Given the description of an element on the screen output the (x, y) to click on. 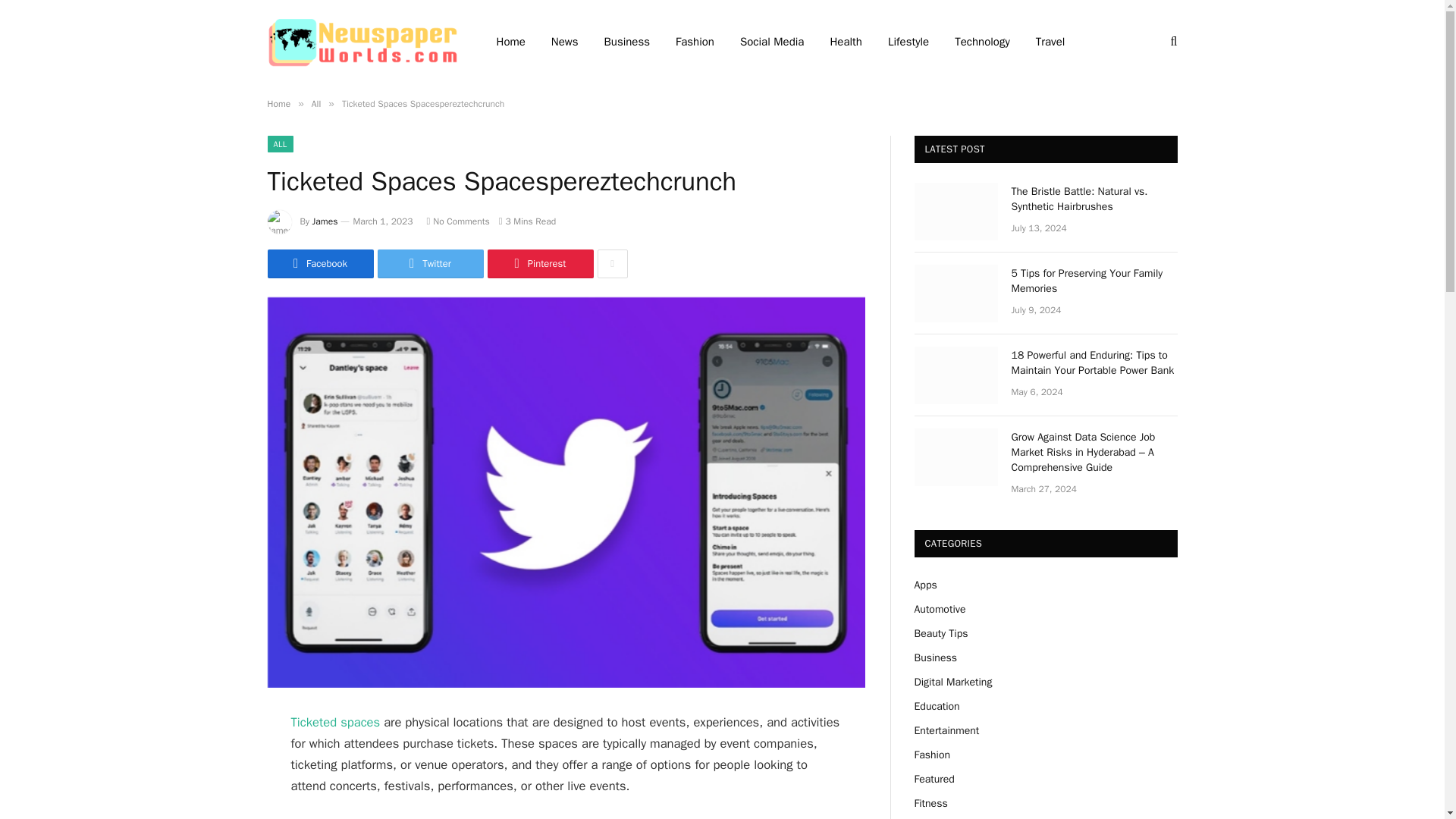
Social Media (771, 41)
Posts by James (325, 221)
Twitter (430, 263)
newspaperworlds (361, 41)
Ticketed spaces (335, 722)
Share on Facebook (319, 263)
Home (277, 103)
No Comments (457, 221)
Facebook (319, 263)
Share on Pinterest (539, 263)
James (325, 221)
ALL (279, 143)
Technology (982, 41)
Show More Social Sharing (611, 263)
